Given the description of an element on the screen output the (x, y) to click on. 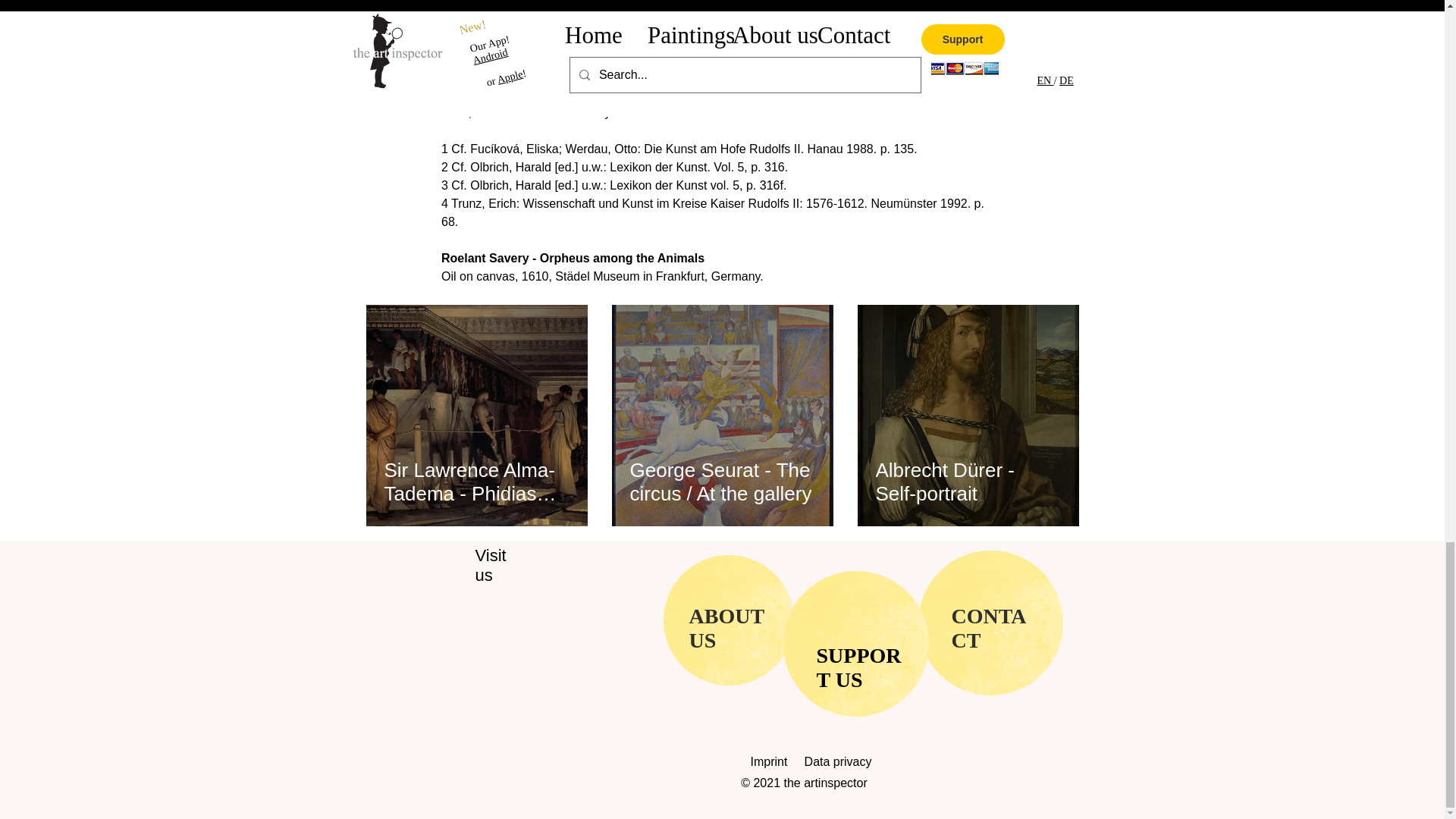
Imprint      (776, 761)
ABOUT US (725, 627)
Data privacy (838, 761)
SUPPORT US (858, 667)
CONTACT (988, 627)
